Given the description of an element on the screen output the (x, y) to click on. 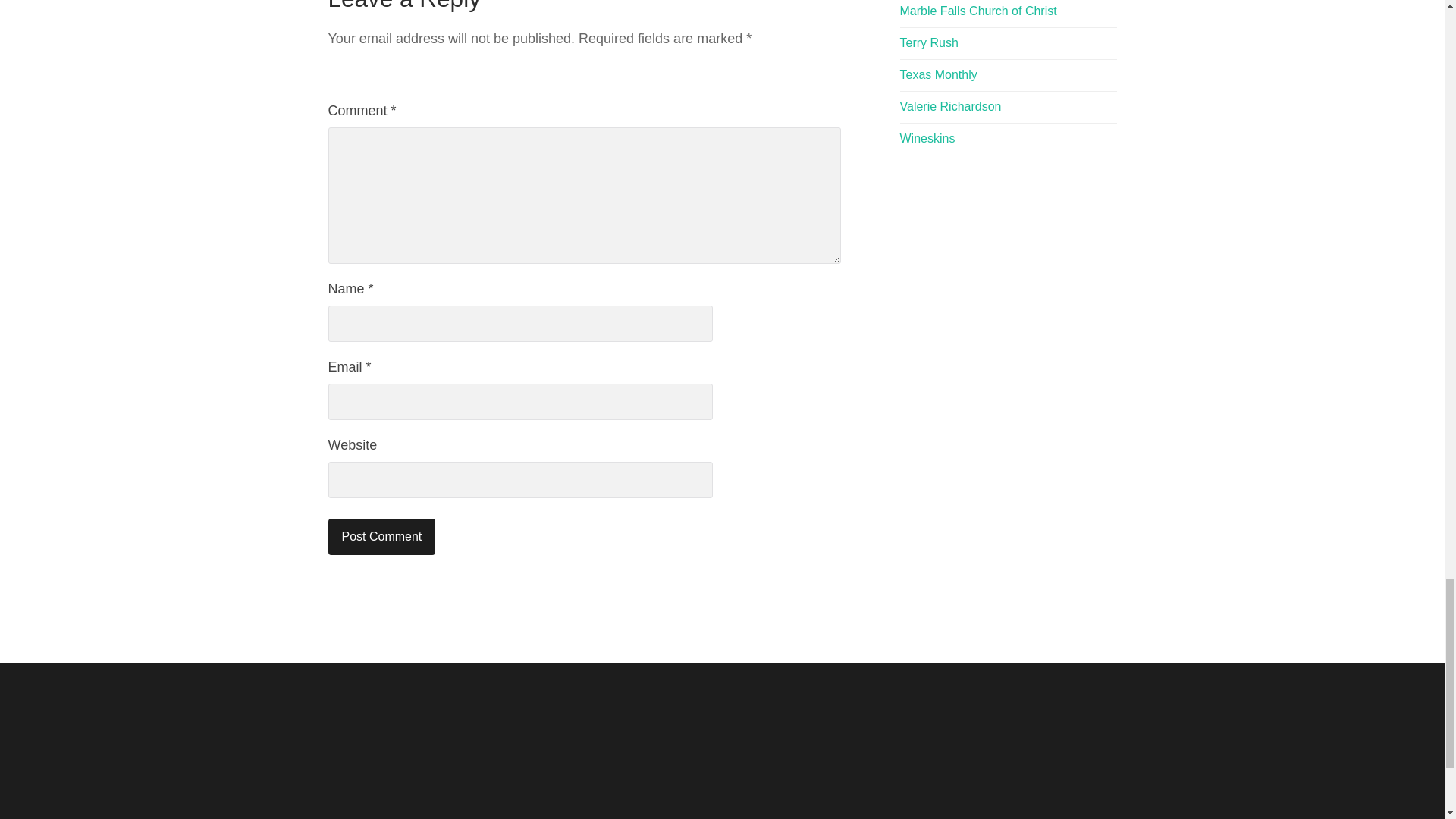
Morning Rush (928, 42)
Post Comment (381, 536)
Exploring the Heart of Restoration (927, 137)
The Kitchen Sink (950, 106)
The National Magazine of Texas (937, 74)
Post Comment (381, 536)
Marble Falls Church of Christ in the Texas Hill Country (978, 10)
